Given the description of an element on the screen output the (x, y) to click on. 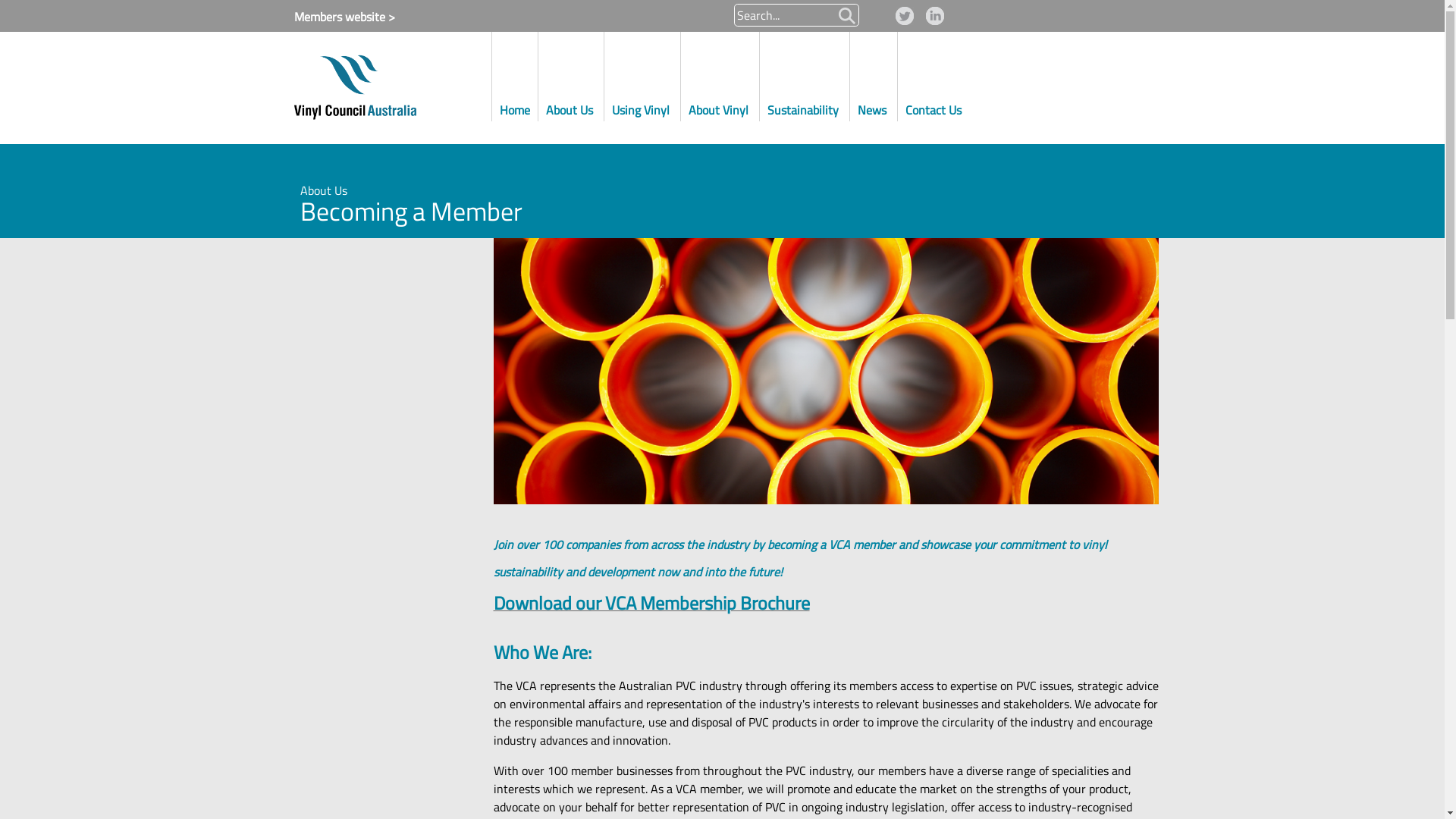
Sustainability Element type: text (804, 74)
Using Vinyl Element type: text (641, 74)
Contact Us Element type: text (933, 74)
About Vinyl Element type: text (719, 74)
Home Element type: text (513, 74)
About Us Element type: text (570, 74)
Members website > Element type: text (338, 16)
Download our VCA Membership Brochure Element type: text (650, 605)
News Element type: text (872, 74)
